Given the description of an element on the screen output the (x, y) to click on. 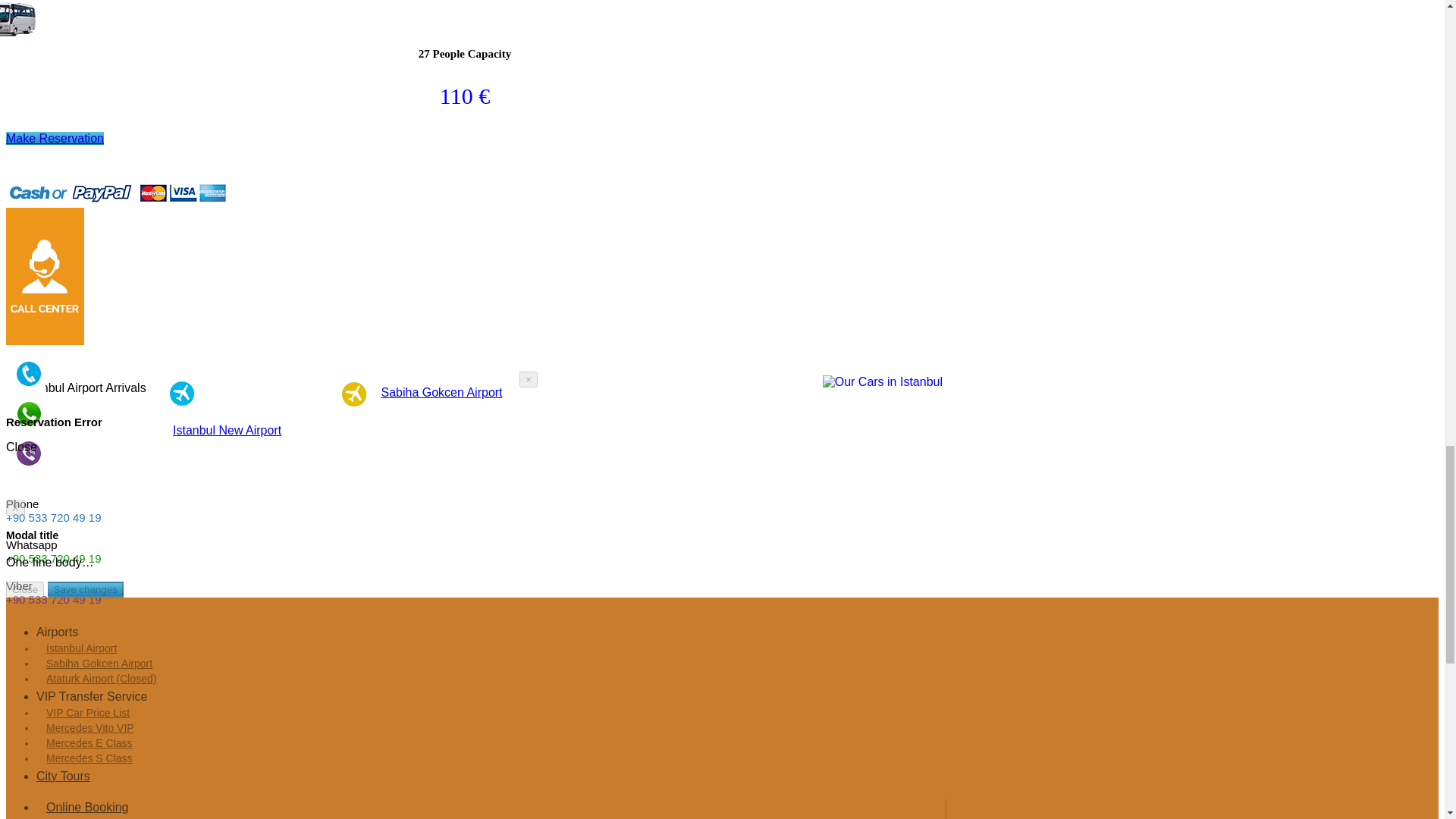
Istanbul New Airport (227, 430)
Sabiha Gokcen Airport (441, 391)
Make Reservation (54, 137)
